Given the description of an element on the screen output the (x, y) to click on. 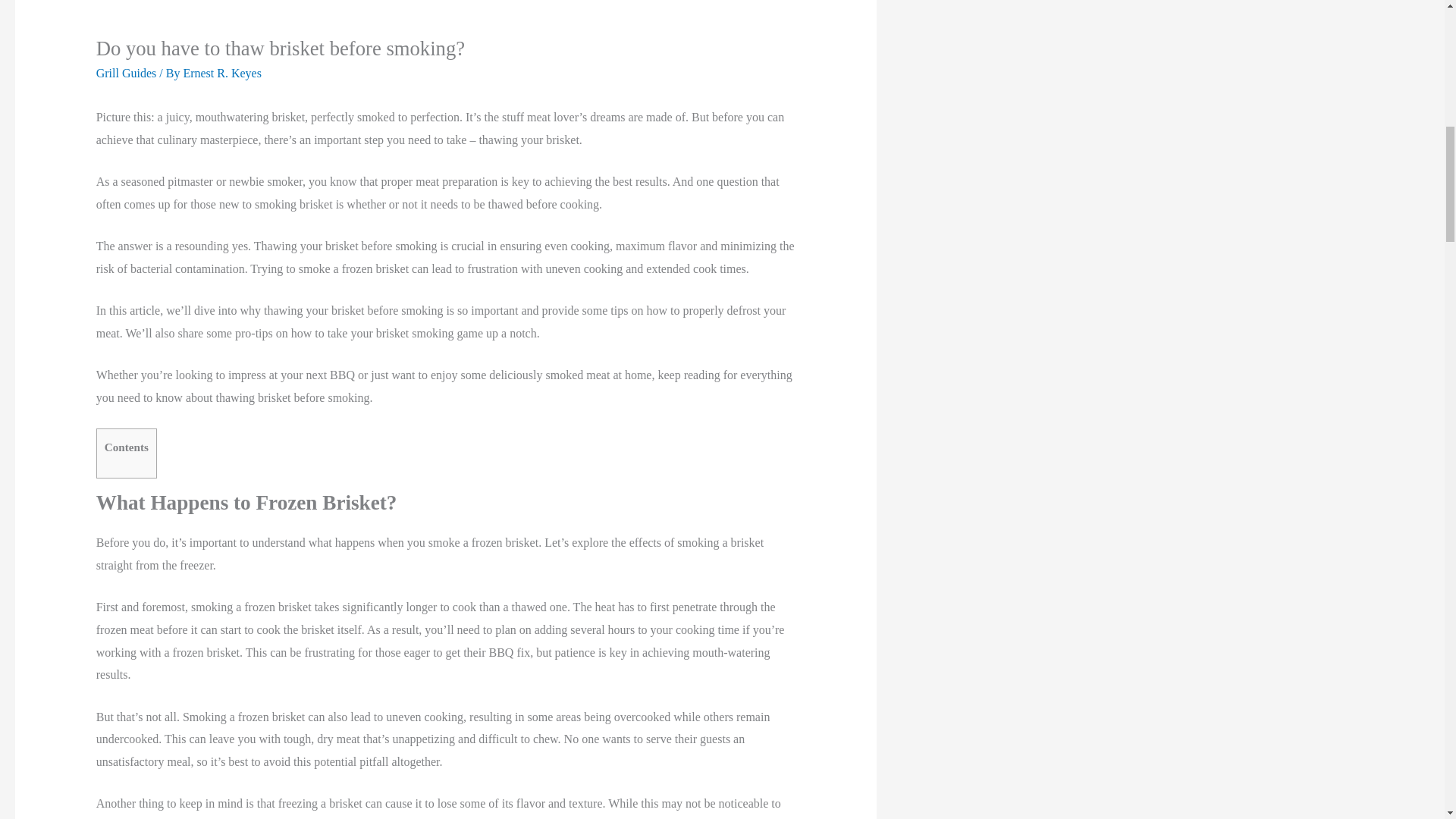
Grill Guides (126, 72)
Ernest R. Keyes (222, 72)
View all posts by Ernest R. Keyes (222, 72)
